Given the description of an element on the screen output the (x, y) to click on. 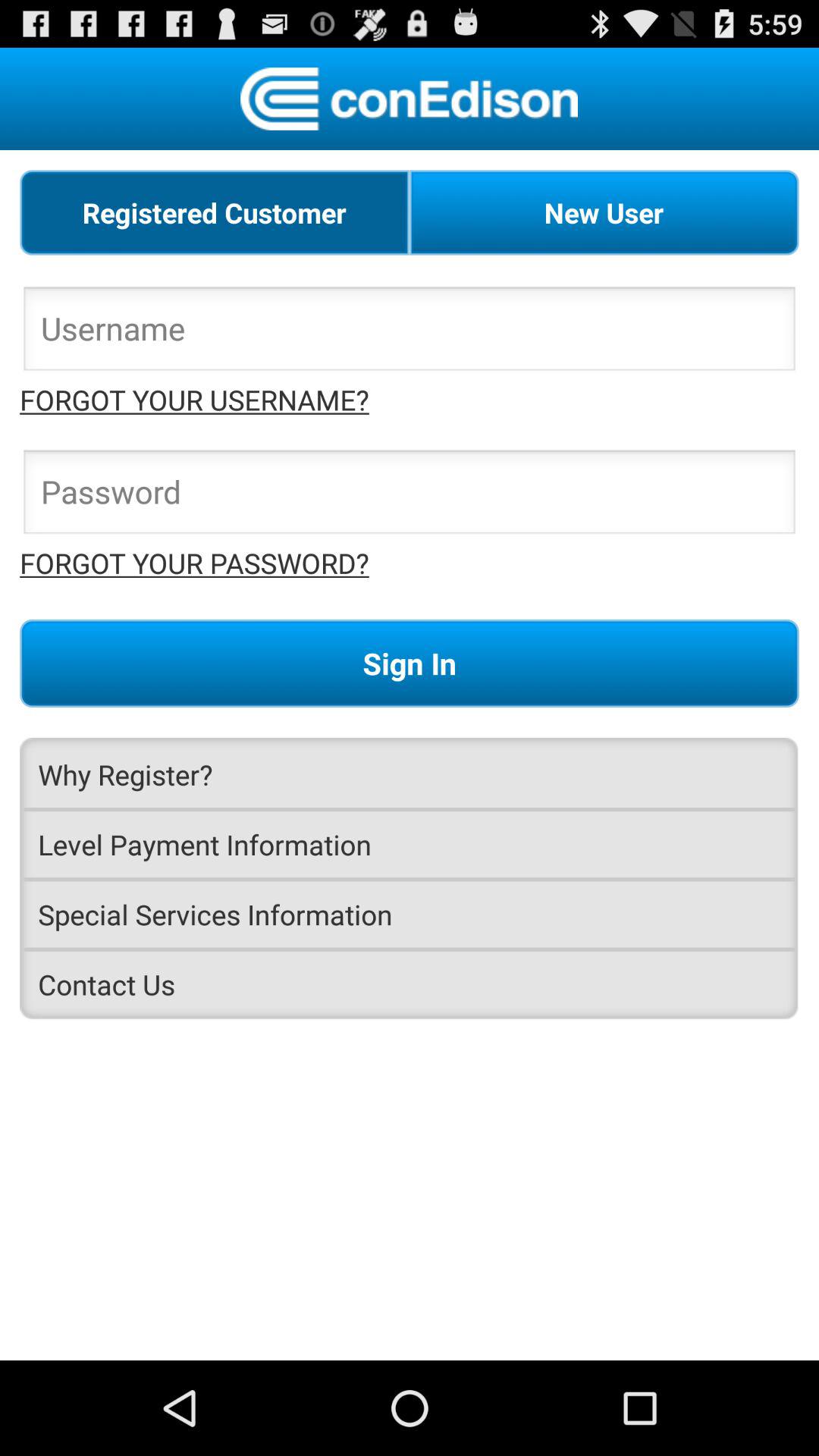
flip until contact us icon (409, 984)
